Given the description of an element on the screen output the (x, y) to click on. 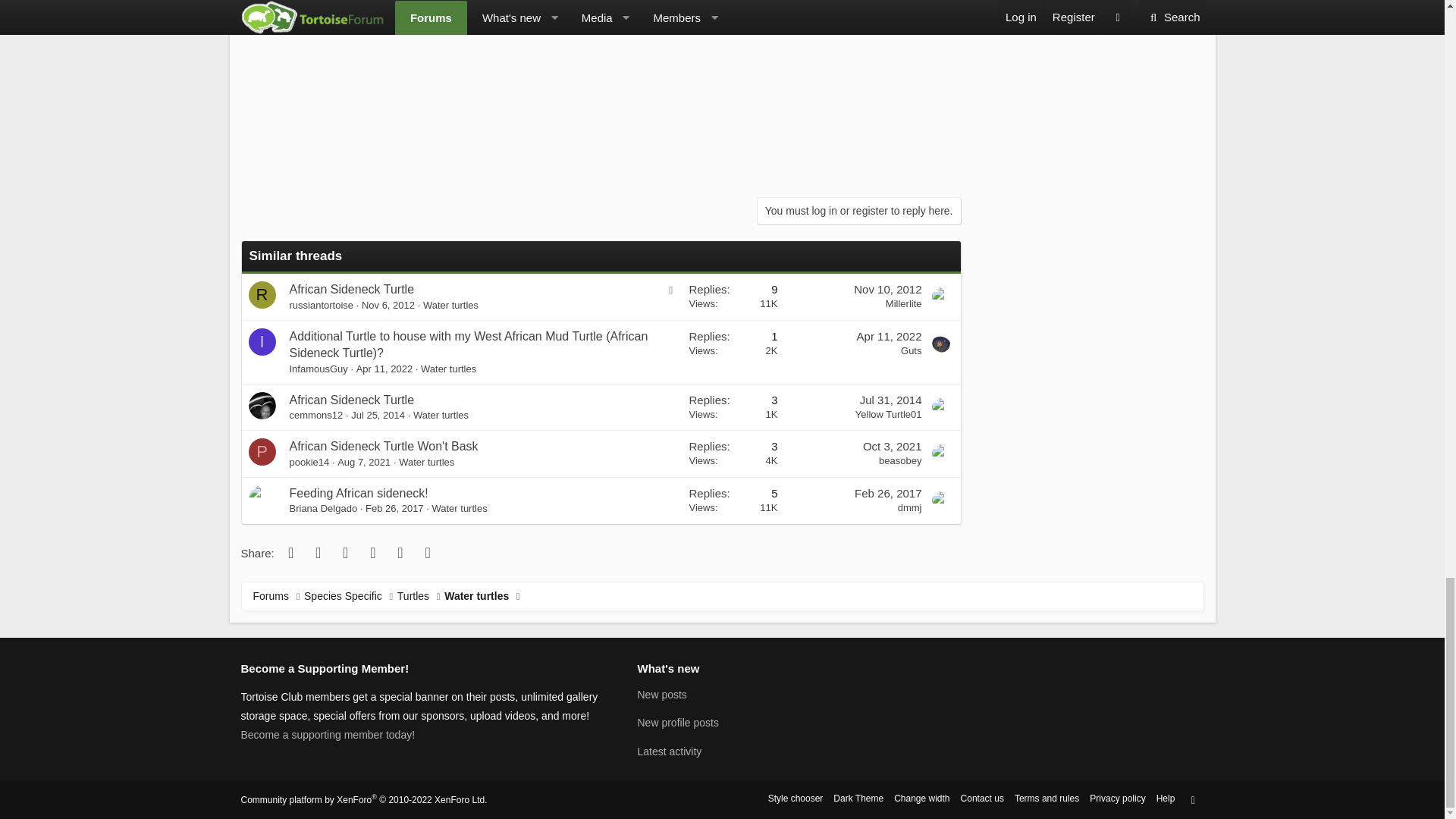
First message reaction score: 0 (733, 296)
Nov 10, 2012 at 6:48 PM (887, 288)
Nov 6, 2012 at 10:59 AM (387, 305)
